Given the description of an element on the screen output the (x, y) to click on. 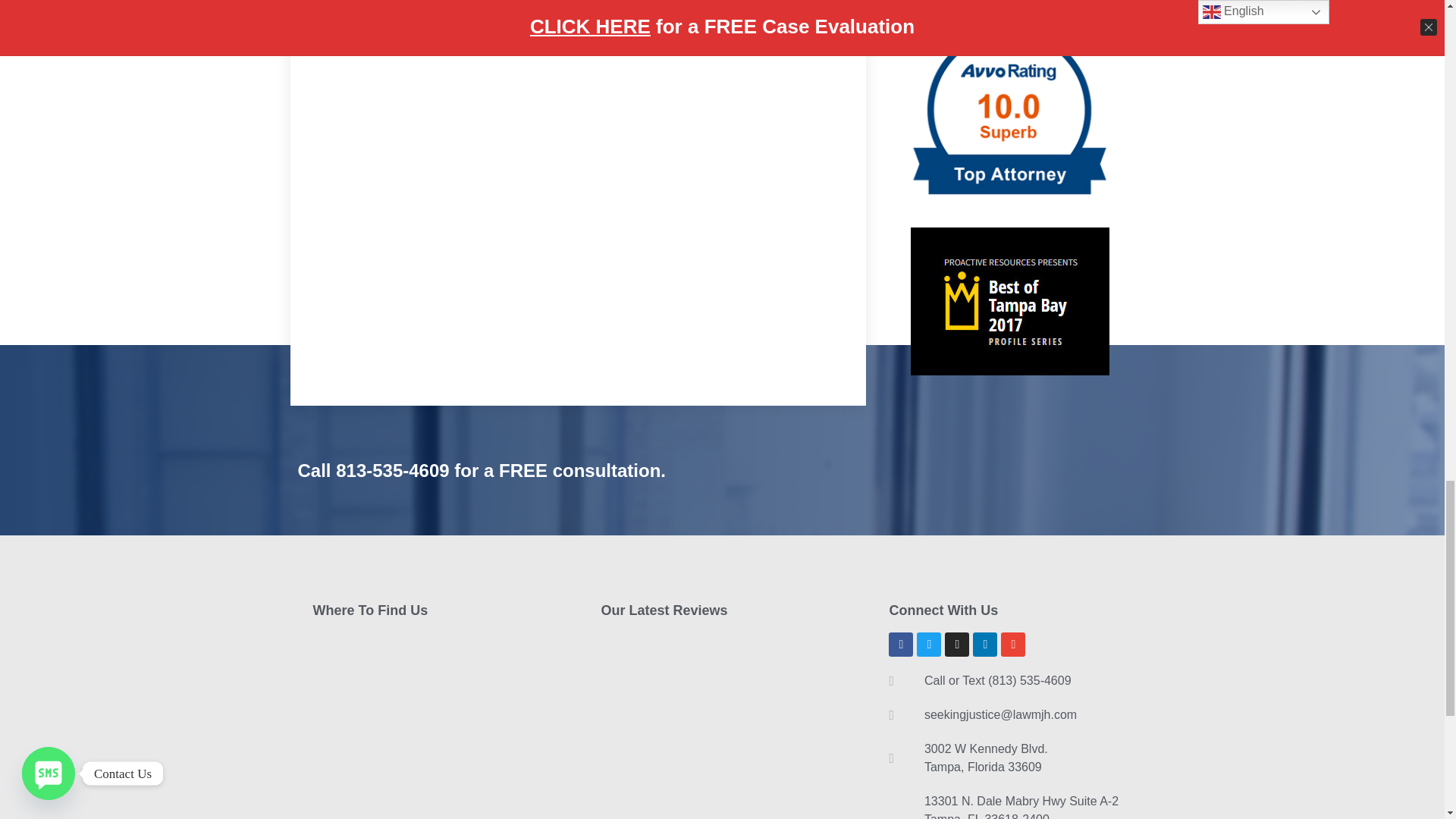
 3002 W Kennedy Blvd. Tampa, Florida 33609 (433, 717)
Avvo Top Attorney Award - Personal Injury Lawyers of Tampa (1009, 114)
